Given the description of an element on the screen output the (x, y) to click on. 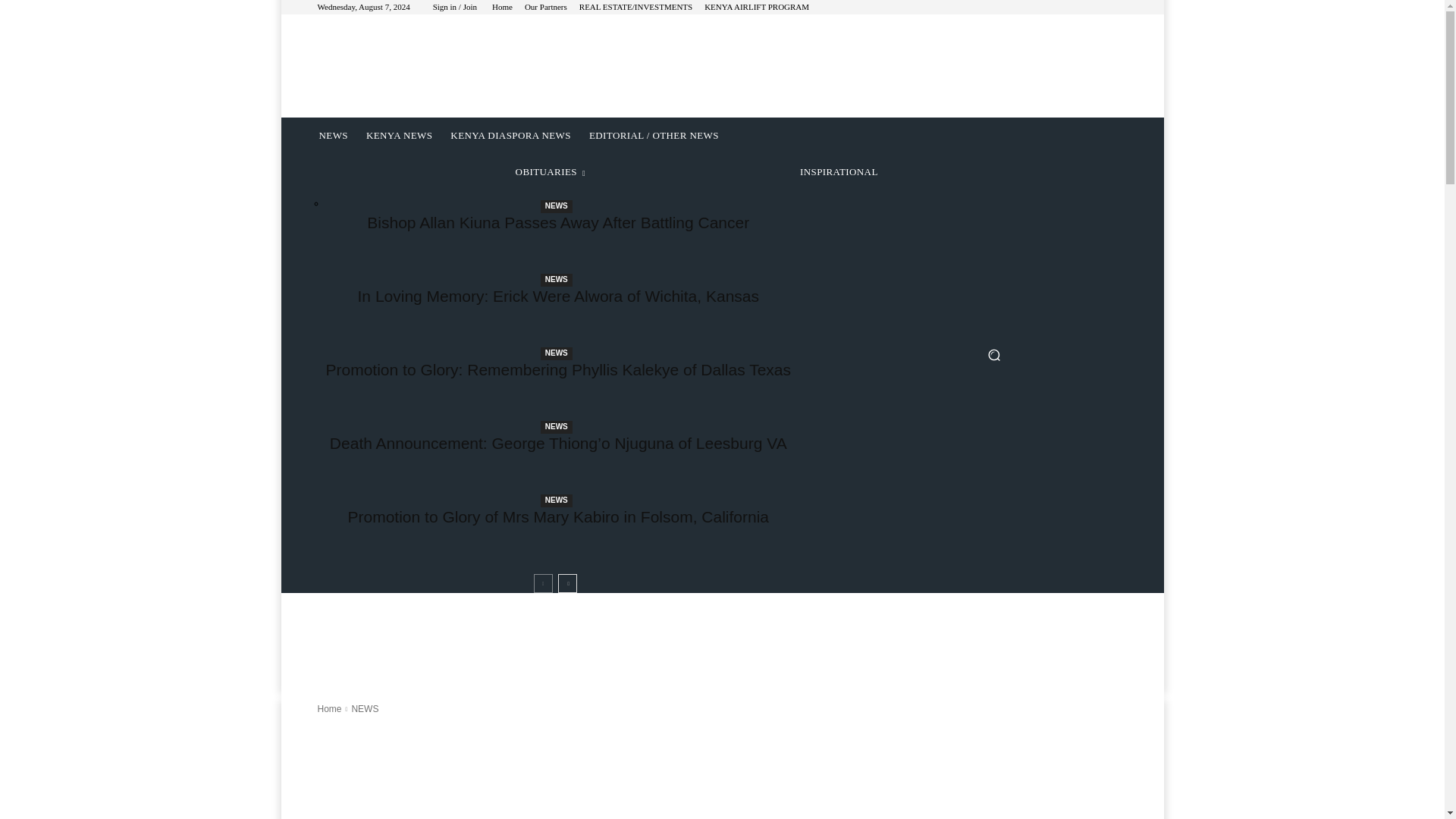
Bishop Allan Kiuna Passes Away After Battling Cancer (557, 221)
Home (502, 7)
NEWS (556, 427)
NEWS (332, 135)
KENYA DIASPORA NEWS (510, 135)
NEWS (556, 353)
OBITUARIES (550, 171)
In Loving Memory: Erick Were Alwora of Wichita, Kansas (558, 295)
In Loving Memory: Erick Were Alwora of Wichita, Kansas (558, 295)
